Given the description of an element on the screen output the (x, y) to click on. 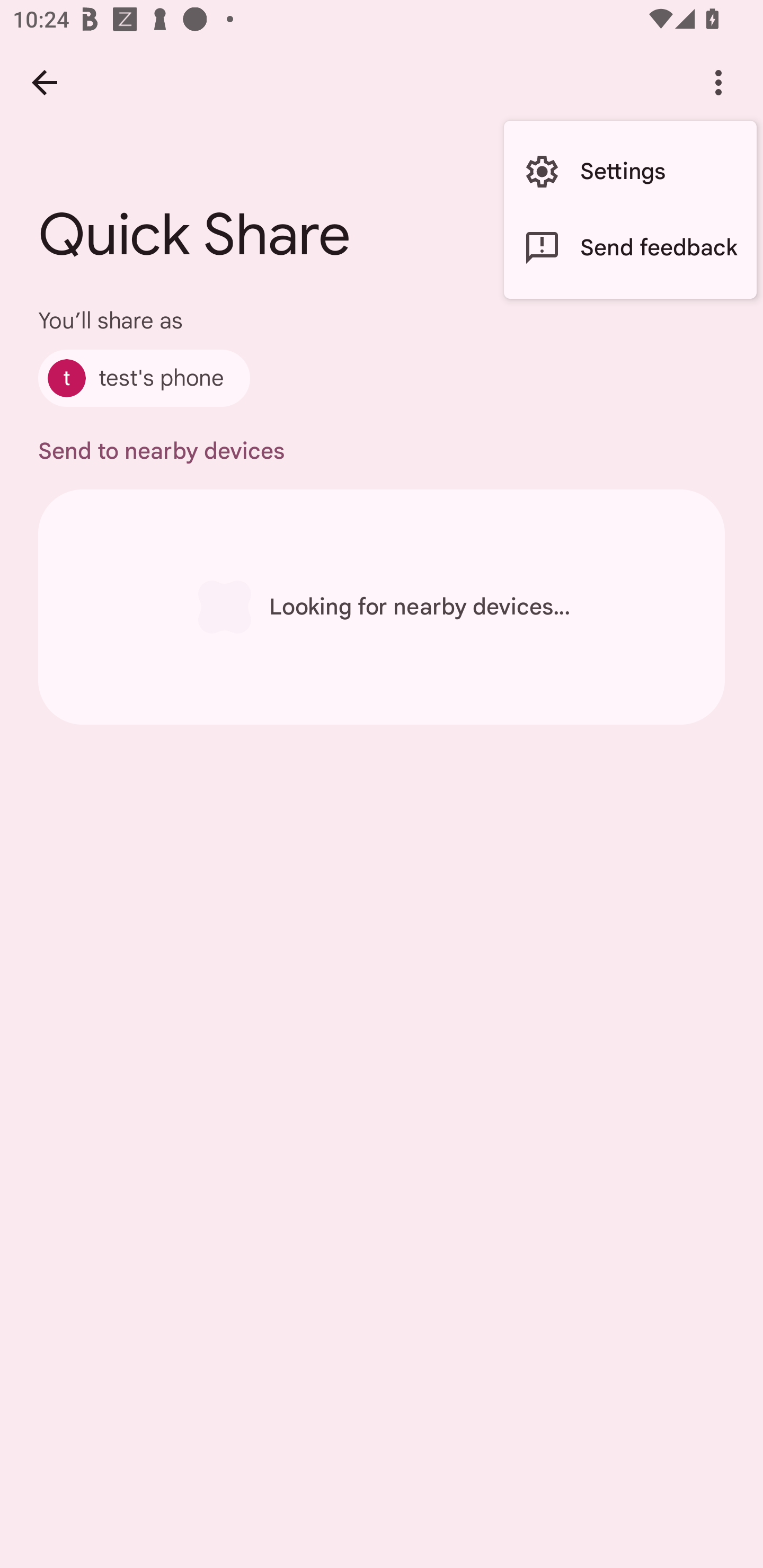
Settings (629, 171)
Send feedback (629, 247)
